Given the description of an element on the screen output the (x, y) to click on. 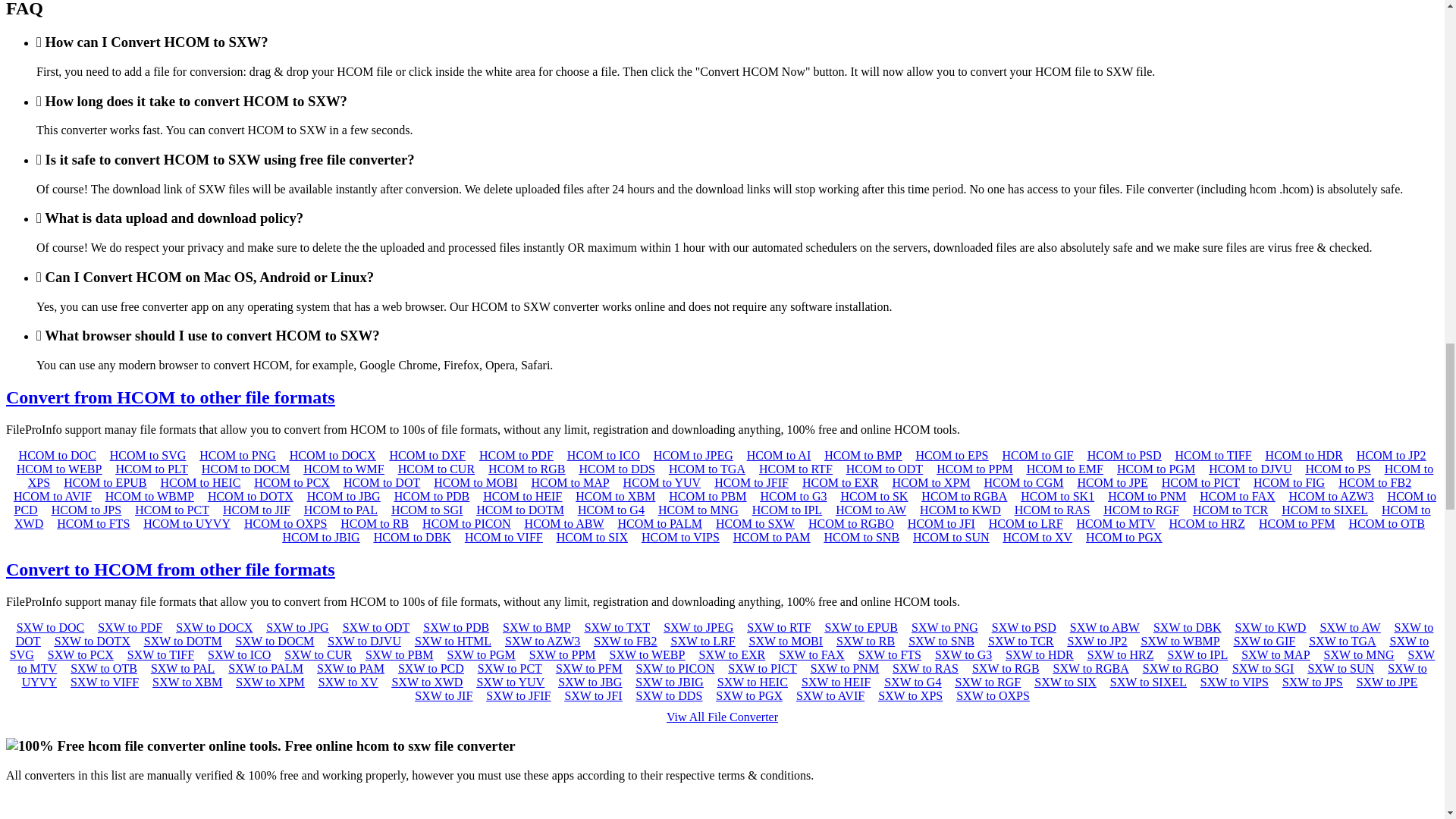
HCOM to ICO (603, 454)
HCOM to PNG (237, 454)
Convert from HCOM to other file formats (169, 397)
HCOM to DOCX (332, 454)
HCOM to DOC (57, 454)
HCOM to SVG (148, 454)
HCOM to DXF (427, 454)
HCOM to JPEG (693, 454)
HCOM to PDF (516, 454)
